Given the description of an element on the screen output the (x, y) to click on. 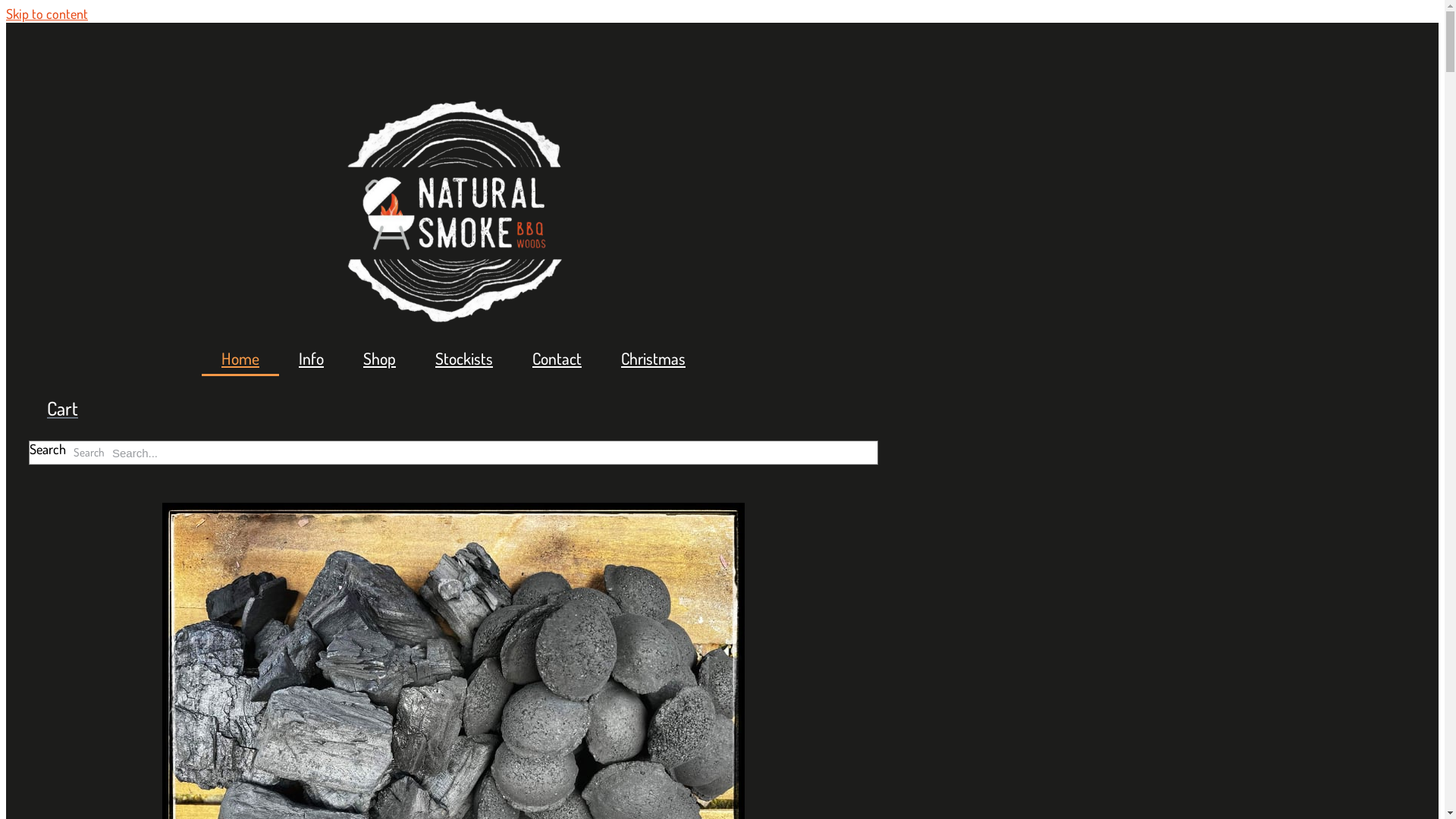
Home Element type: text (240, 358)
Stockists Element type: text (463, 358)
Shop Element type: text (379, 358)
Cart Element type: text (62, 408)
Info Element type: text (311, 358)
Contact Element type: text (556, 358)
Christmas Element type: text (653, 358)
Skip to content Element type: text (46, 13)
